Given the description of an element on the screen output the (x, y) to click on. 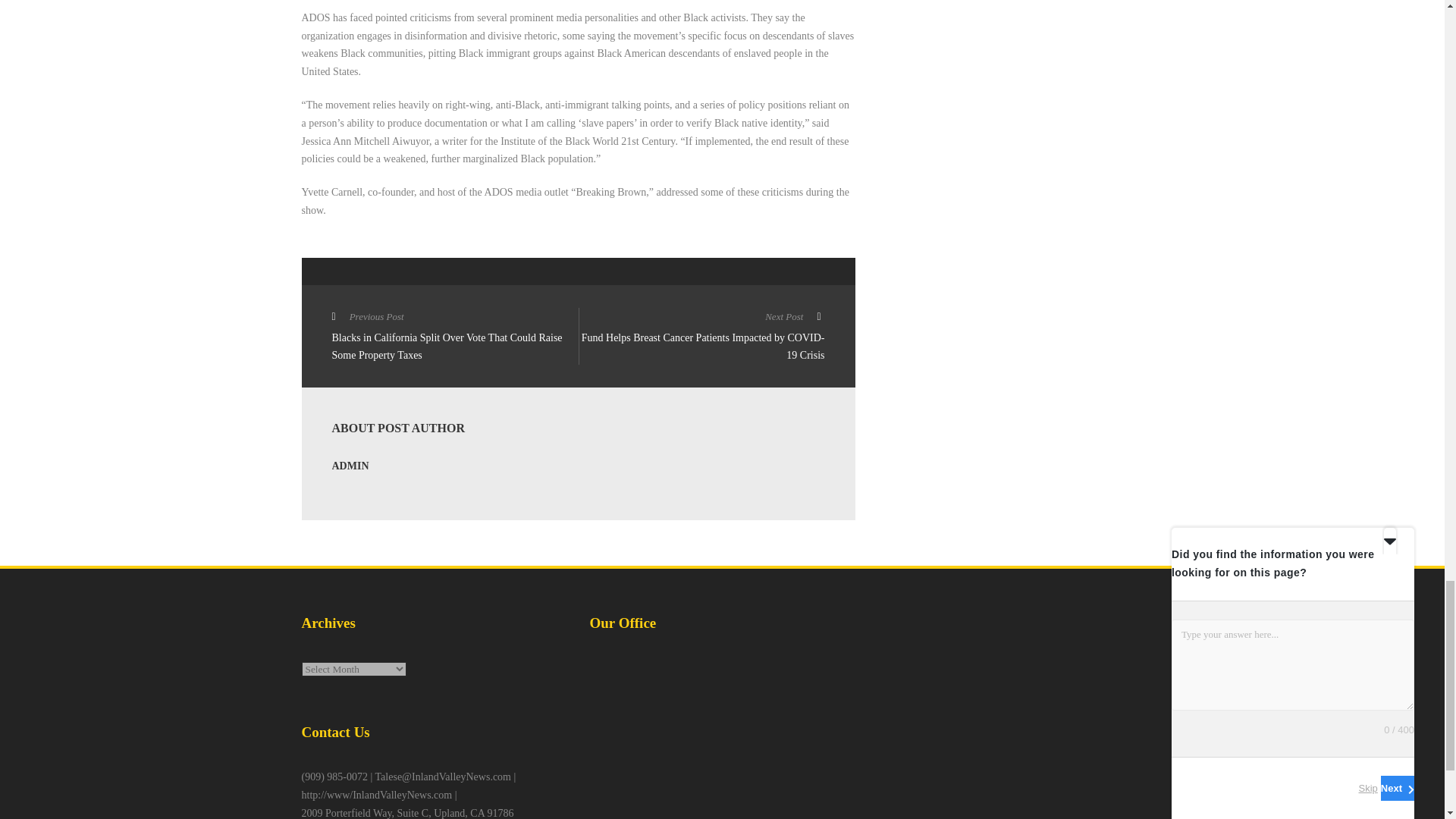
ADMIN (350, 465)
Posts by admin (350, 465)
